Given the description of an element on the screen output the (x, y) to click on. 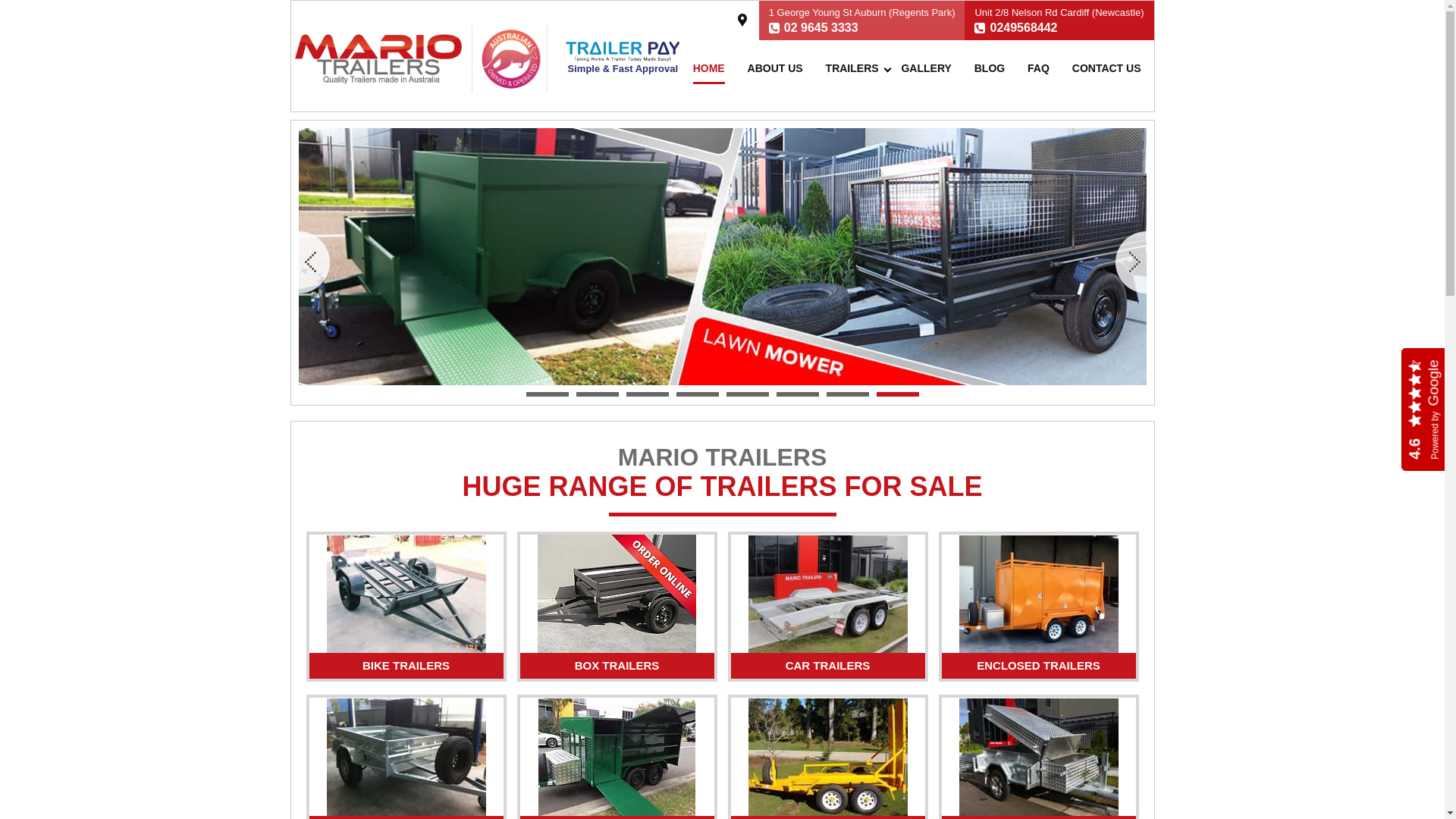
MARIO TRAILERS
HUGE RANGE OF TRAILERS FOR SALE Element type: text (722, 480)
0249568442 Element type: text (1023, 27)
8 Element type: text (897, 394)
5 Element type: text (747, 394)
Simple & Fast Approval Element type: text (622, 60)
Find us on Google Element type: hover (741, 19)
Off Road Camping Trailers Element type: hover (1037, 756)
3 Element type: text (647, 394)
BIKE TRAILERS Element type: text (406, 666)
ENCLOSED TRAILERS Element type: text (1038, 666)
1 Element type: text (547, 394)
Mario Trailers Sydney Element type: hover (377, 58)
Lawn Mower Trailers Element type: hover (616, 756)
ABOUT US Element type: text (775, 68)
Galvanised Trailers Element type: hover (405, 756)
HOME Element type: text (708, 68)
GALLERY Element type: text (925, 68)
Previous Element type: text (313, 262)
Machinery Trailers Element type: hover (826, 756)
Next Element type: text (1129, 262)
FAQ Element type: text (1038, 68)
Galvanished Trailer Element type: hover (722, 256)
Enclosed Trailers  Element type: hover (1037, 593)
TRAILERS Element type: text (851, 68)
7 Element type: text (847, 394)
Bike Trailers Element type: hover (405, 593)
6 Element type: text (797, 394)
CAR TRAILERS Element type: text (828, 666)
2 Element type: text (597, 394)
BLOG Element type: text (989, 68)
4 Element type: text (697, 394)
Car  Trailers Element type: hover (826, 593)
02 9645 3333 Element type: text (821, 27)
Box  Trailers Element type: hover (616, 593)
BOX TRAILERS Element type: text (617, 666)
CONTACT US Element type: text (1106, 68)
